Given the description of an element on the screen output the (x, y) to click on. 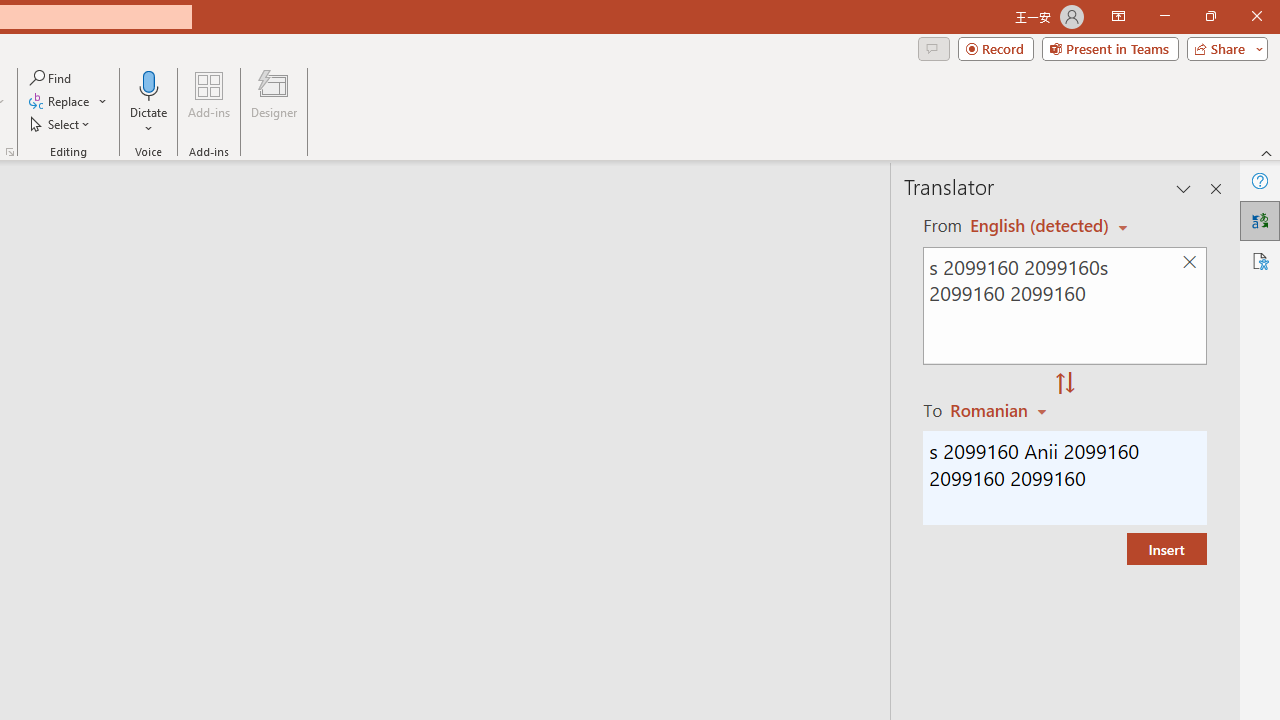
Romanian (1001, 409)
Swap "from" and "to" languages. (1065, 383)
